Given the description of an element on the screen output the (x, y) to click on. 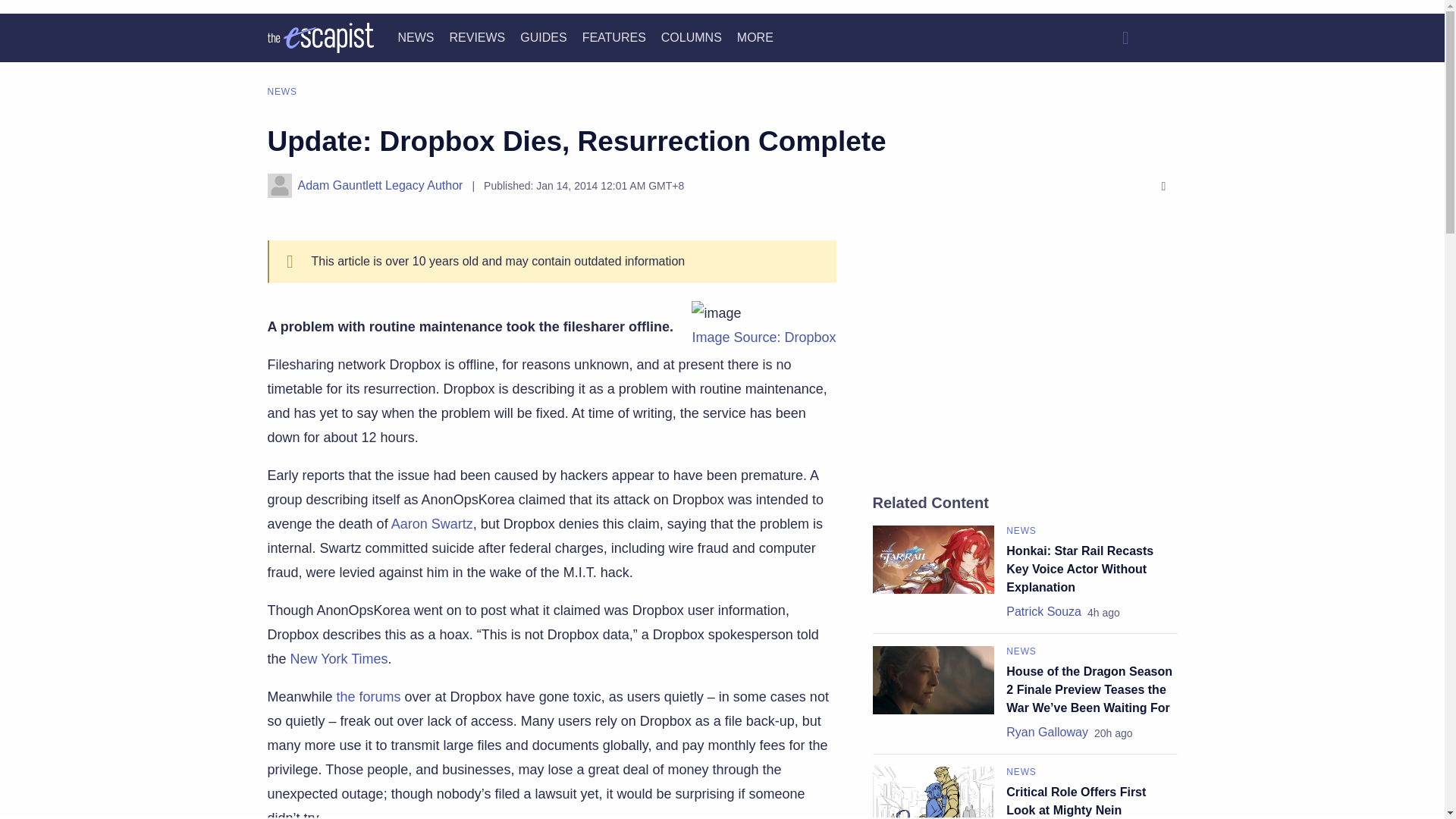
GUIDES (542, 37)
Dark Mode (1161, 37)
REVIEWS (476, 37)
FEATURES (614, 37)
Dropbox (763, 337)
Search (1124, 37)
NEWS (415, 37)
COLUMNS (691, 37)
